Given the description of an element on the screen output the (x, y) to click on. 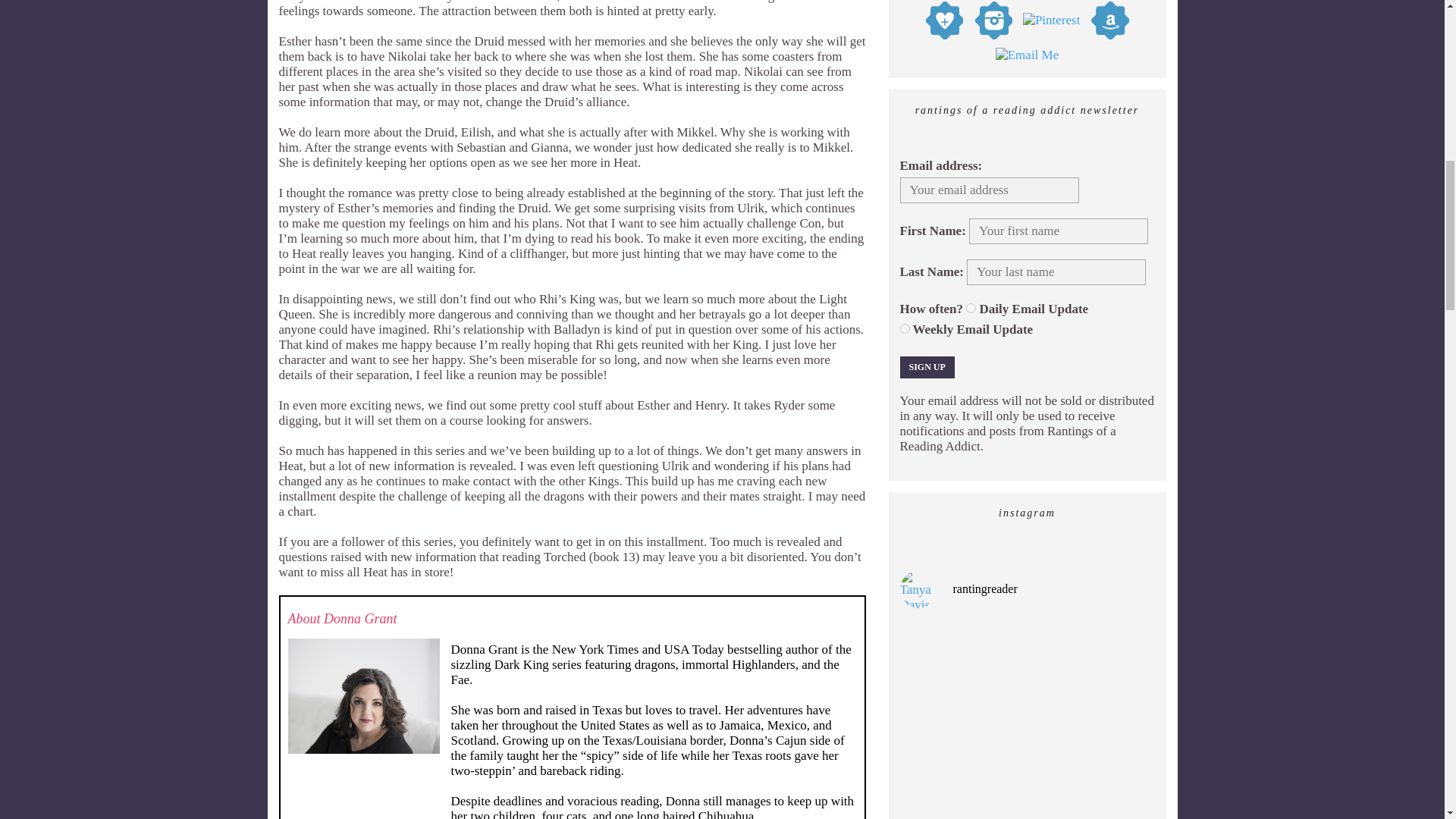
Daily Email Update (970, 307)
Sign up (926, 367)
Weekly Email Update (903, 328)
